Given the description of an element on the screen output the (x, y) to click on. 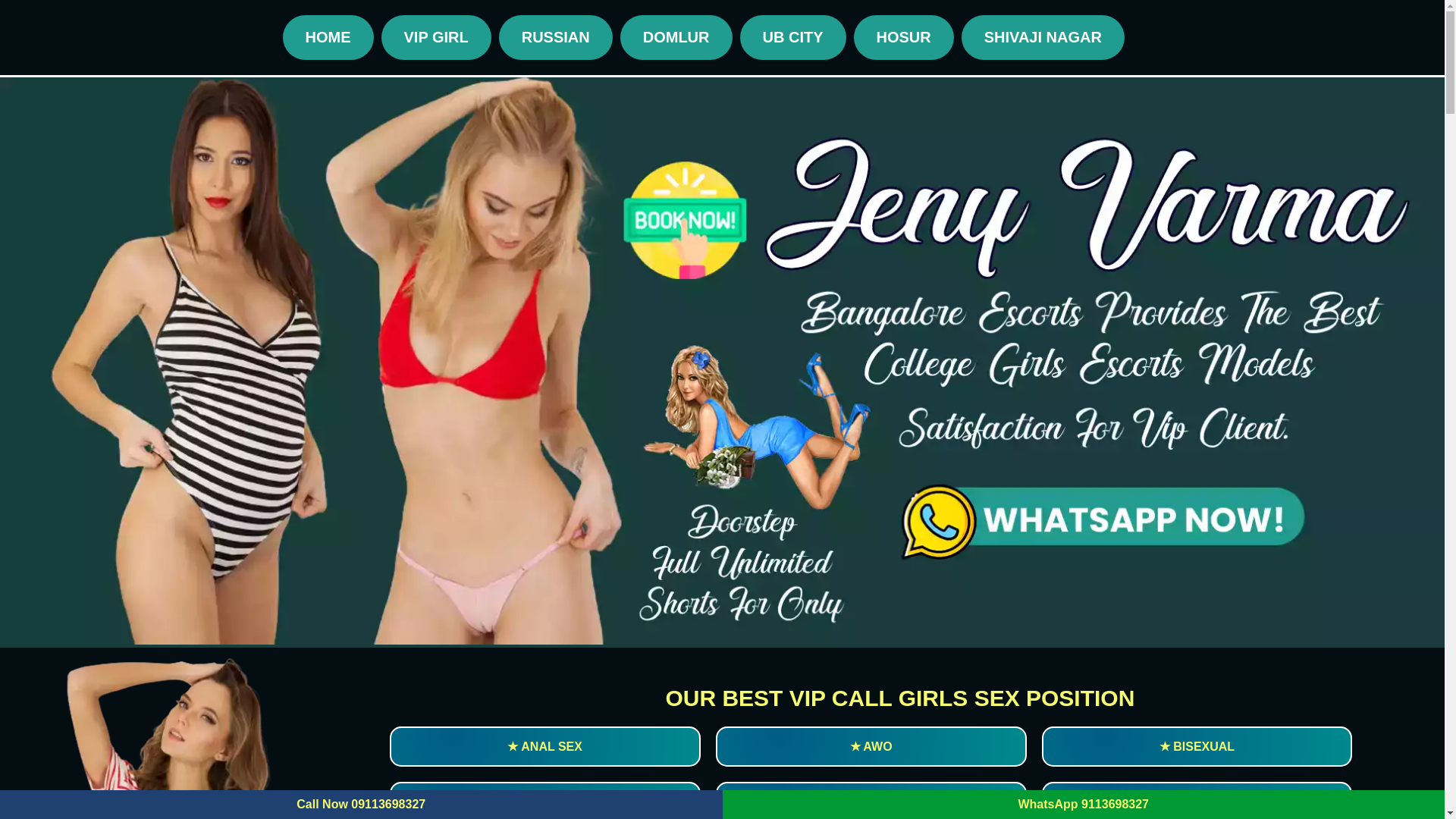
Electronic City Escorts Phone WhatsApp (188, 737)
RUSSIAN (555, 37)
DOMLUR (676, 37)
HOME (327, 37)
VIP GIRL (435, 37)
SHIVAJI NAGAR (1042, 37)
UB CITY (792, 37)
HOSUR (903, 37)
